Given the description of an element on the screen output the (x, y) to click on. 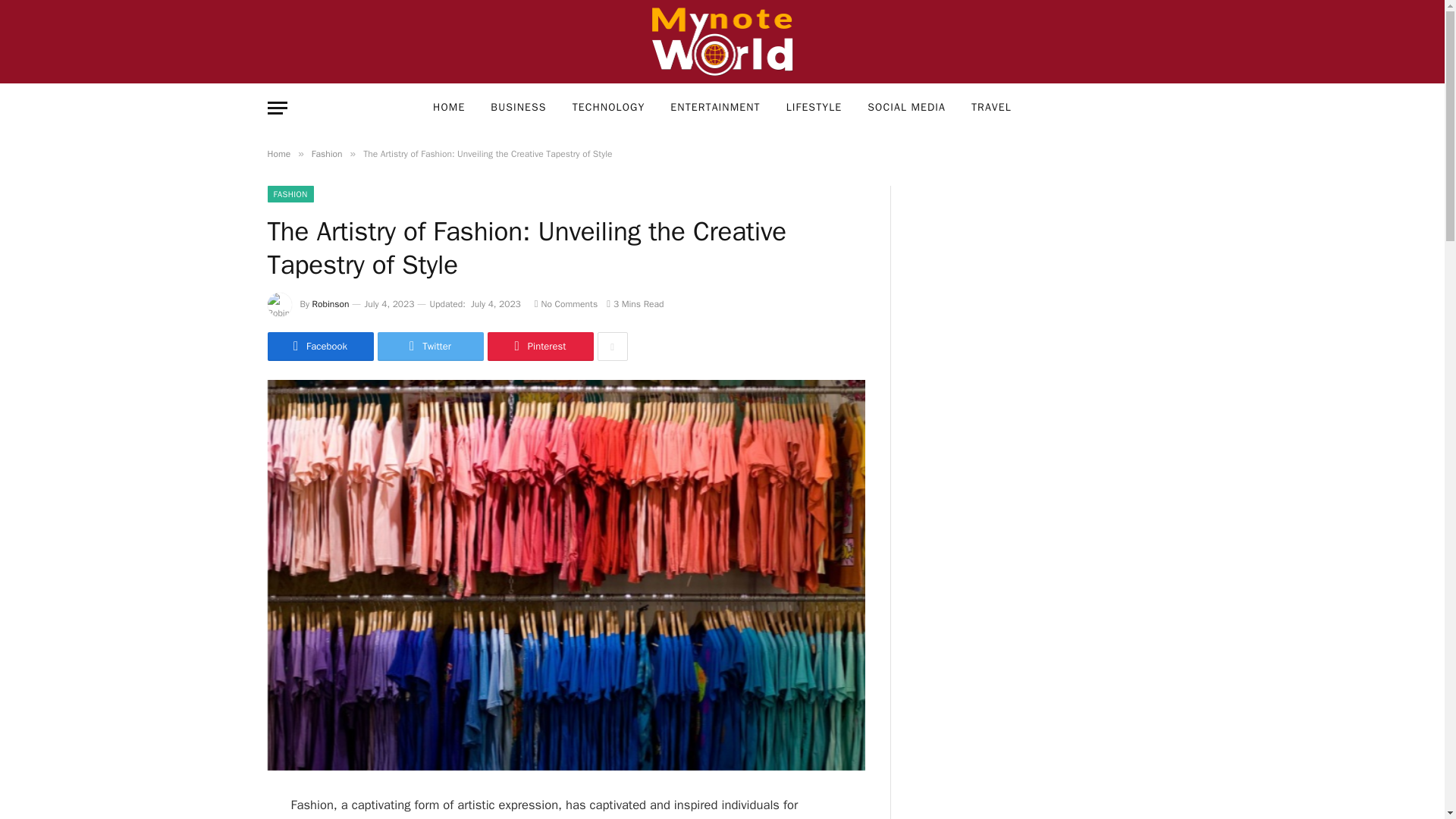
SOCIAL MEDIA (906, 107)
LIFESTYLE (814, 107)
No Comments (565, 304)
My Note World (722, 41)
TRAVEL (991, 107)
Robinson (331, 304)
Pinterest (539, 346)
HOME (448, 107)
Home (277, 153)
